Given the description of an element on the screen output the (x, y) to click on. 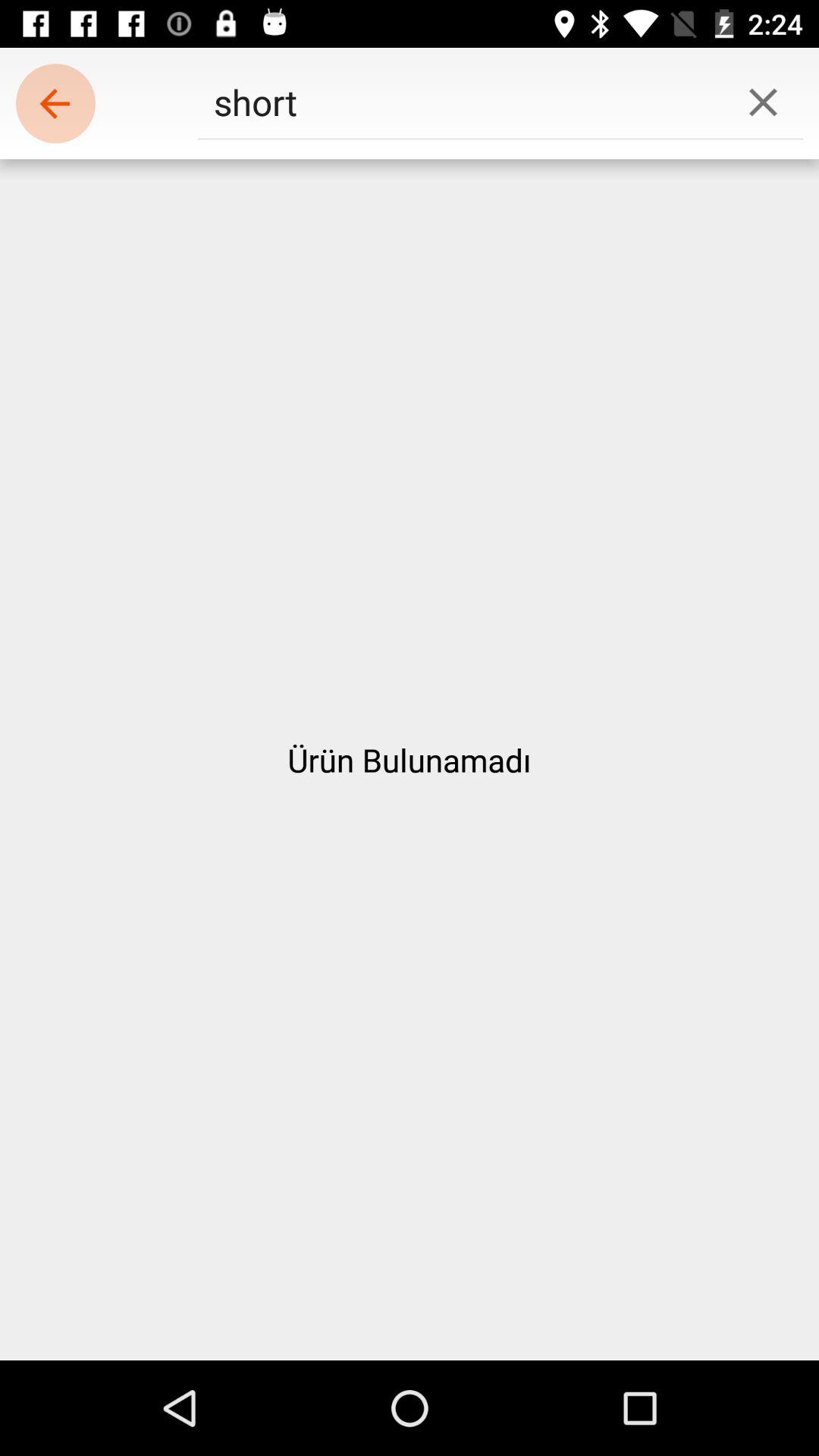
launch the item at the top left corner (55, 103)
